Given the description of an element on the screen output the (x, y) to click on. 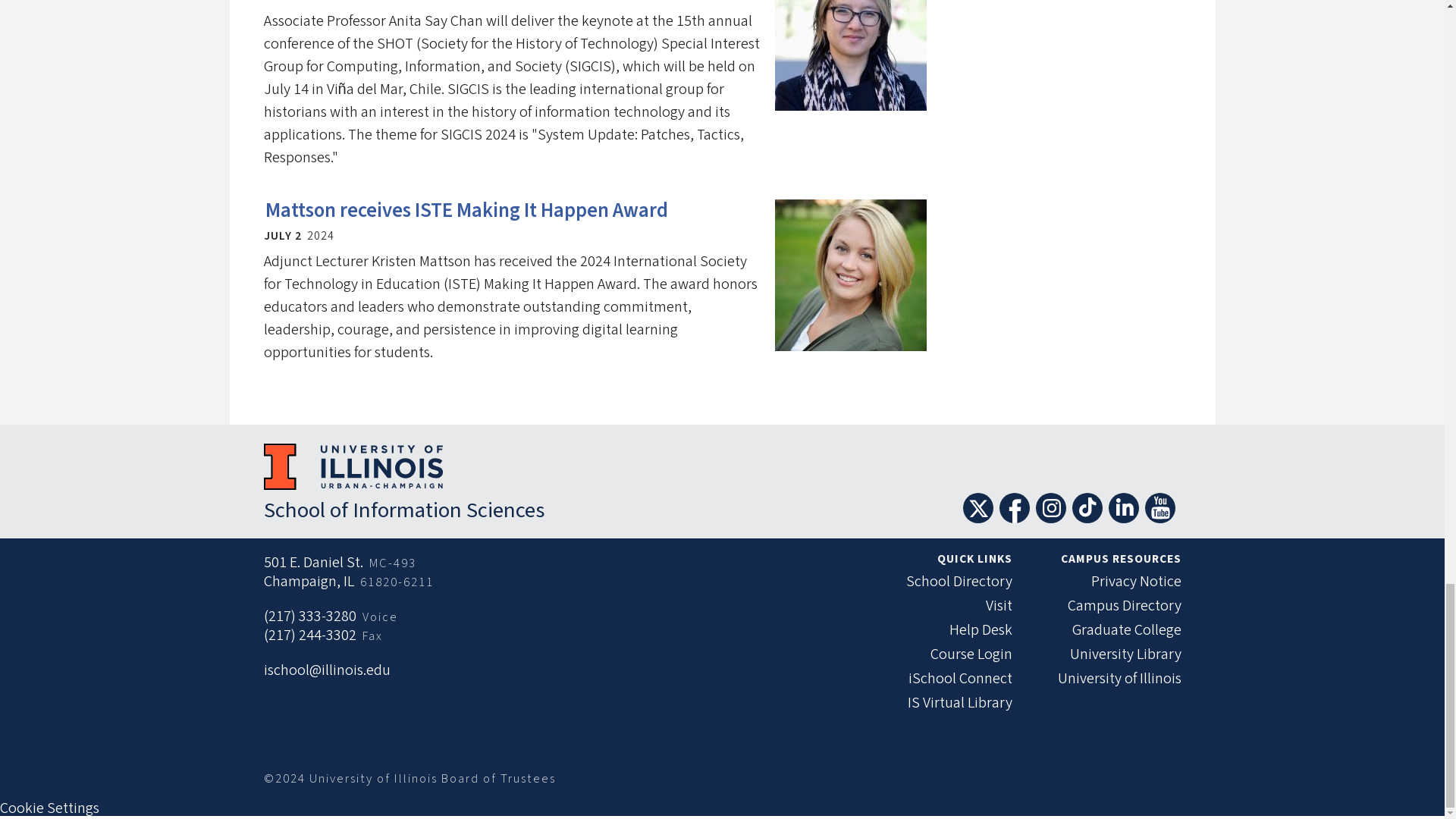
University of Illinois Urbana-Champaign (352, 466)
